Given the description of an element on the screen output the (x, y) to click on. 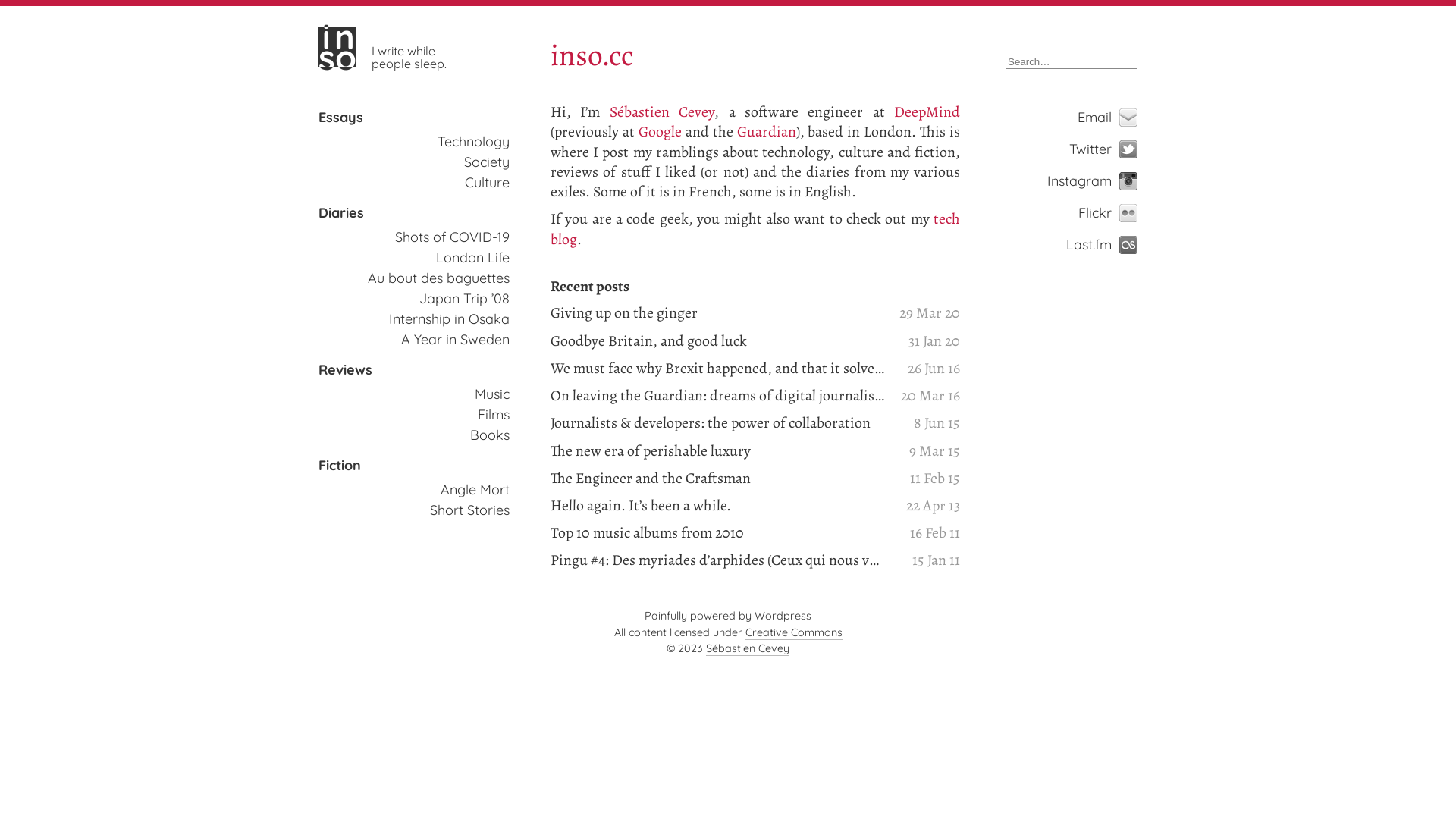
Creative Commons Element type: text (792, 632)
Flickr Element type: text (1115, 212)
Instagram Element type: text (1115, 181)
Culture Element type: text (486, 182)
Wordpress Element type: text (782, 615)
Internship in Osaka Element type: text (449, 318)
London Life Element type: text (472, 257)
Reviews Element type: text (345, 369)
Email Element type: text (1115, 117)
Journalists & developers: the power of collaboration Element type: text (717, 423)
Books Element type: text (489, 434)
We must face why Brexit happened, and that it solves nothing Element type: text (717, 368)
On leaving the Guardian: dreams of digital journalism Element type: text (717, 395)
Angle Mort Element type: text (474, 489)
A Year in Sweden Element type: text (455, 339)
Diaries Element type: text (341, 212)
Guardian Element type: text (766, 131)
Music Element type: text (491, 393)
Technology Element type: text (473, 141)
The new era of perishable luxury Element type: text (717, 451)
Last.fm Element type: text (1115, 244)
DeepMind Element type: text (927, 111)
Goodbye Britain, and good luck Element type: text (717, 341)
in
so Element type: text (337, 46)
Essays Element type: text (340, 117)
Short Stories Element type: text (469, 509)
Google Element type: text (659, 131)
Giving up on the ginger Element type: text (717, 313)
Society Element type: text (486, 161)
The Engineer and the Craftsman Element type: text (717, 478)
Top 10 music albums from 2010 Element type: text (717, 532)
tech blog Element type: text (755, 228)
Fiction Element type: text (339, 465)
Au bout des baguettes Element type: text (438, 277)
Twitter Element type: text (1115, 149)
Films Element type: text (493, 414)
Shots of COVID-19 Element type: text (452, 236)
